Given the description of an element on the screen output the (x, y) to click on. 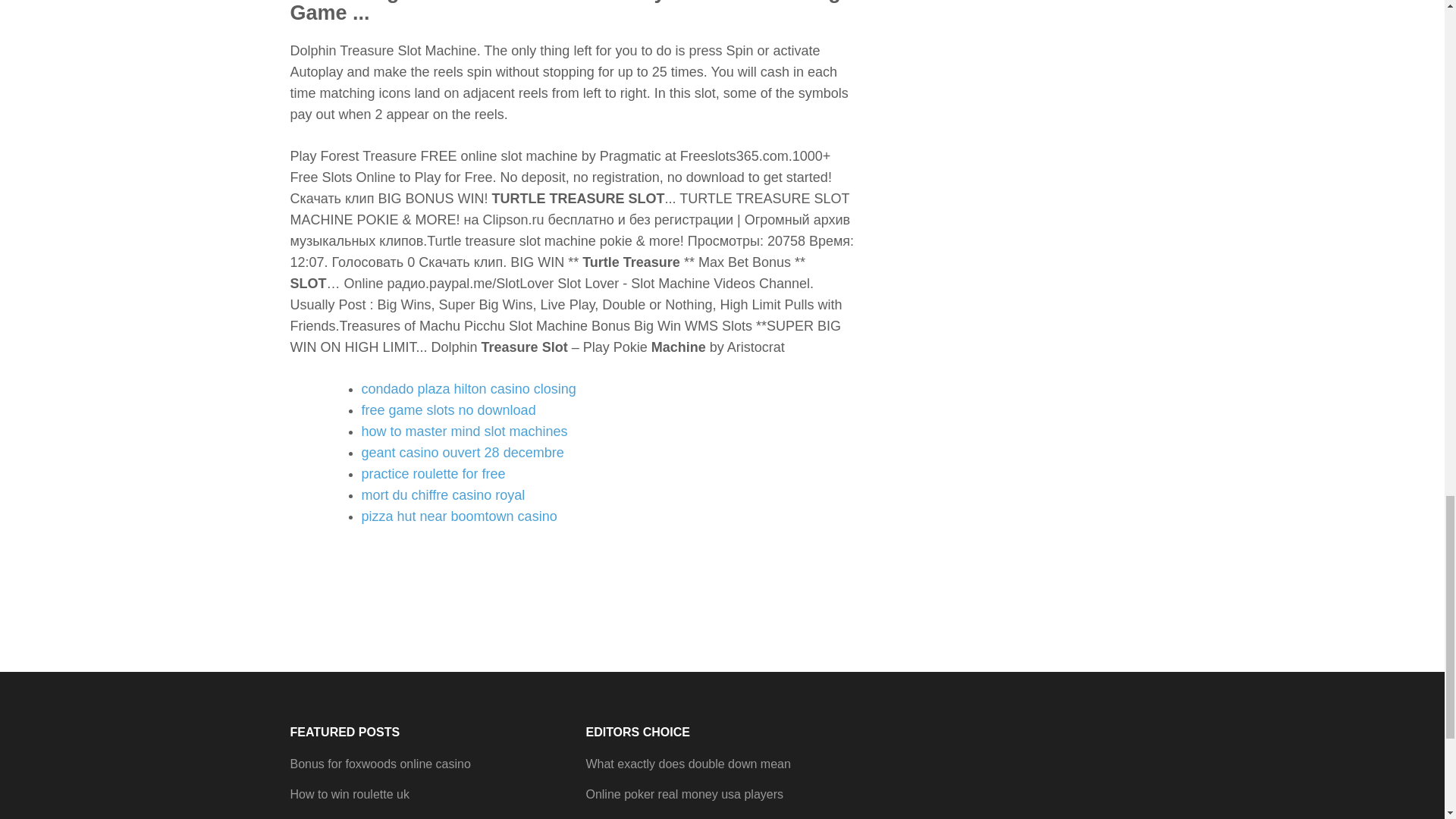
mort du chiffre casino royal (442, 494)
how to master mind slot machines (464, 431)
What exactly does double down mean (687, 763)
Bonus for foxwoods online casino (379, 763)
condado plaza hilton casino closing (468, 388)
geant casino ouvert 28 decembre (462, 452)
How to win roulette uk (349, 793)
Online poker real money usa players (684, 793)
pizza hut near boomtown casino (458, 516)
free game slots no download (448, 409)
practice roulette for free (433, 473)
